Given the description of an element on the screen output the (x, y) to click on. 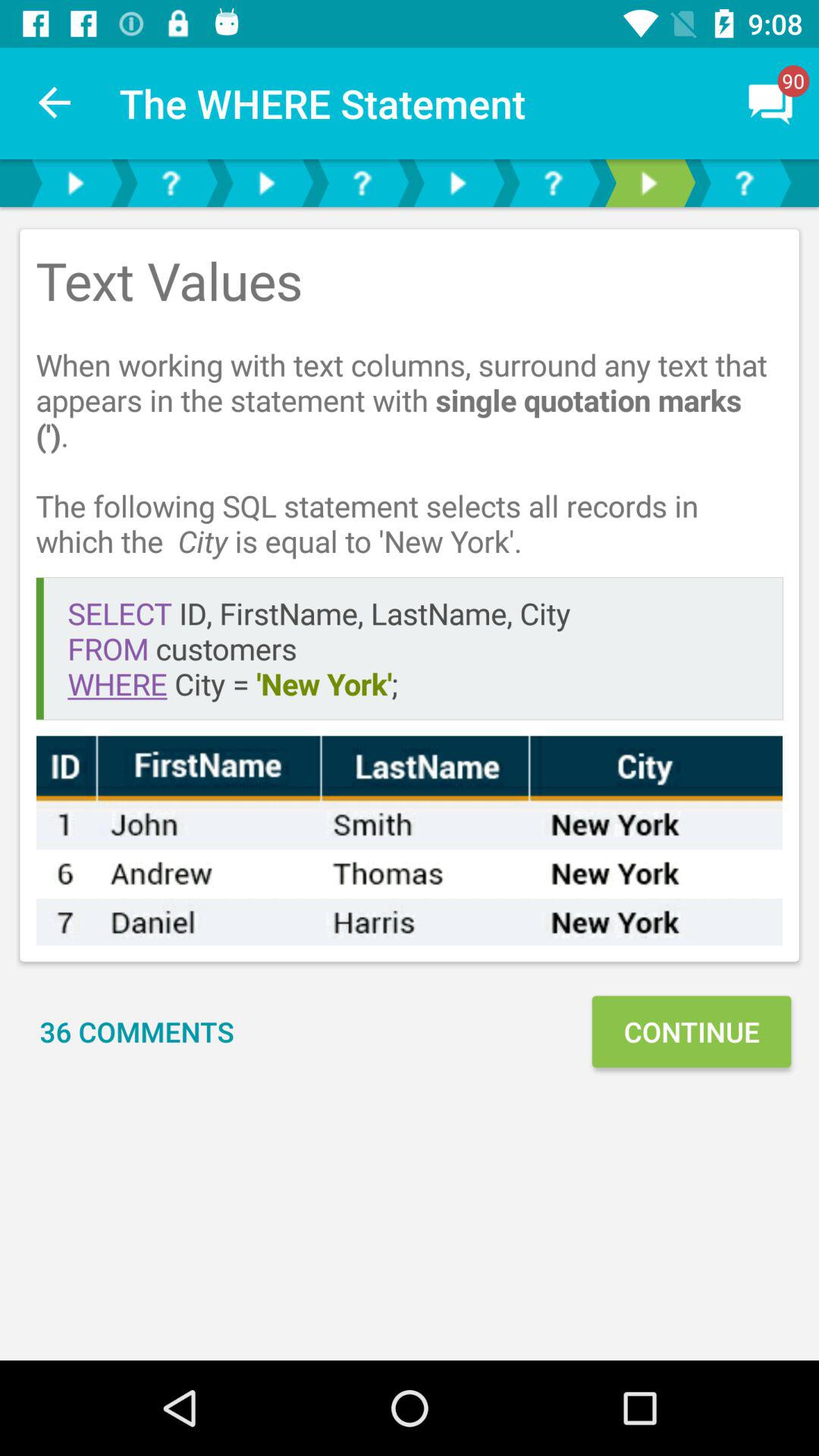
go to next (74, 183)
